Given the description of an element on the screen output the (x, y) to click on. 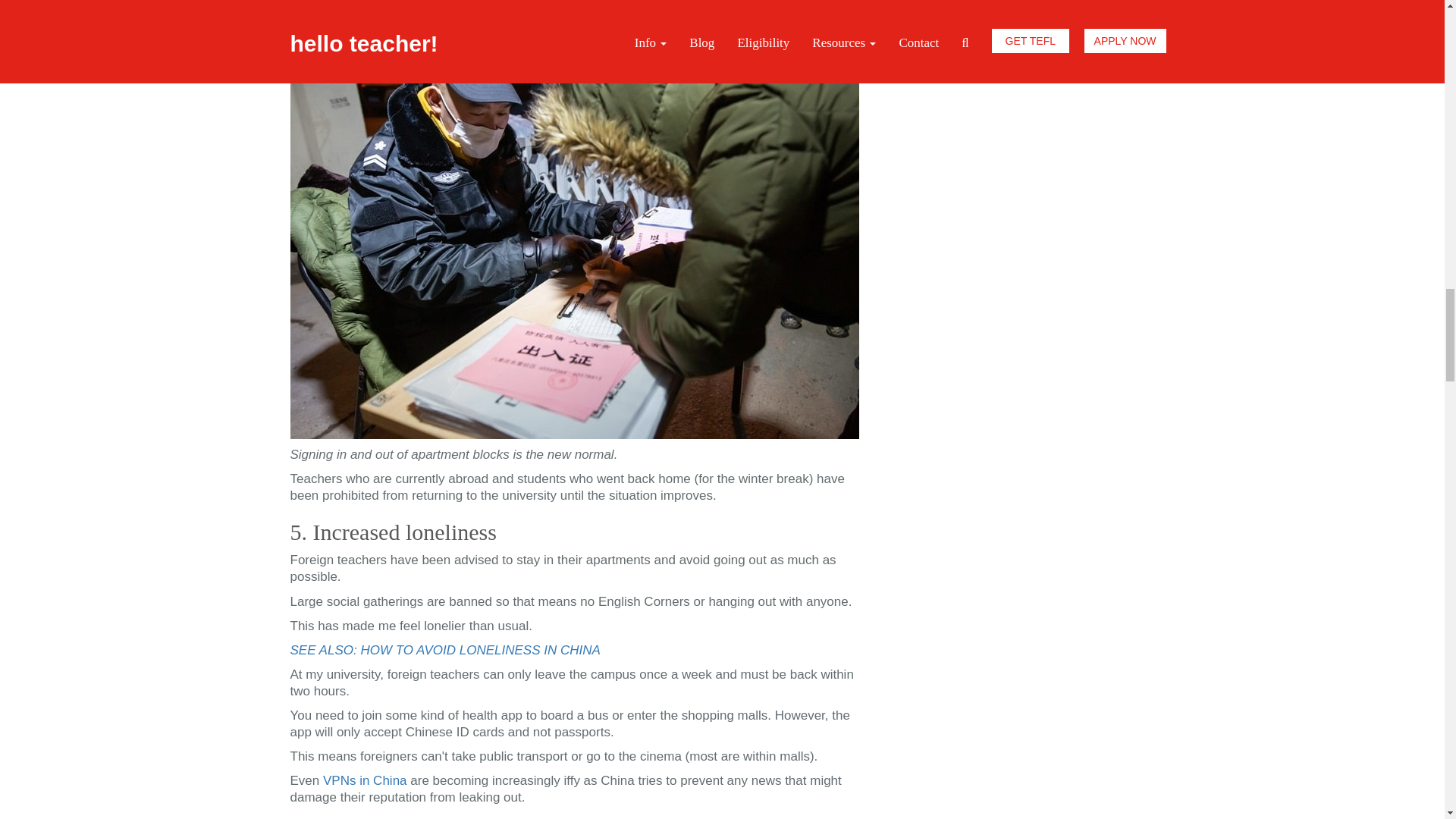
SEE ALSO: HOW TO AVOID LONELINESS IN CHINA (444, 649)
VPNs in China (365, 780)
